Given the description of an element on the screen output the (x, y) to click on. 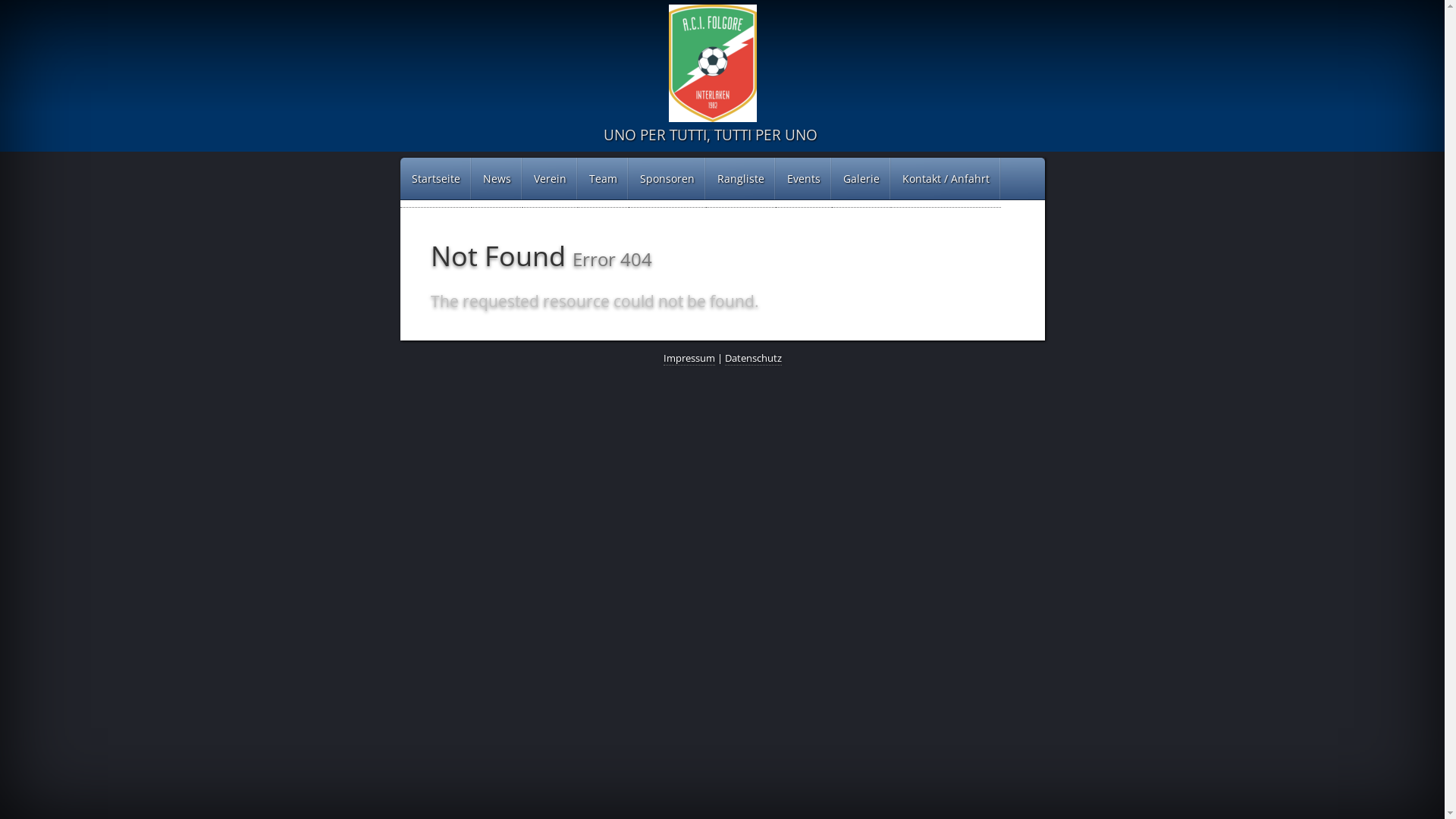
Verein Element type: text (549, 182)
Sponsoren Element type: text (666, 182)
Galerie Element type: text (860, 182)
Events Element type: text (803, 182)
Datenschutz Element type: text (752, 358)
Startseite Element type: text (435, 182)
Team Element type: text (602, 182)
Kontakt / Anfahrt Element type: text (945, 182)
News Element type: text (496, 182)
Rangliste Element type: text (740, 182)
Impressum Element type: text (688, 358)
